Given the description of an element on the screen output the (x, y) to click on. 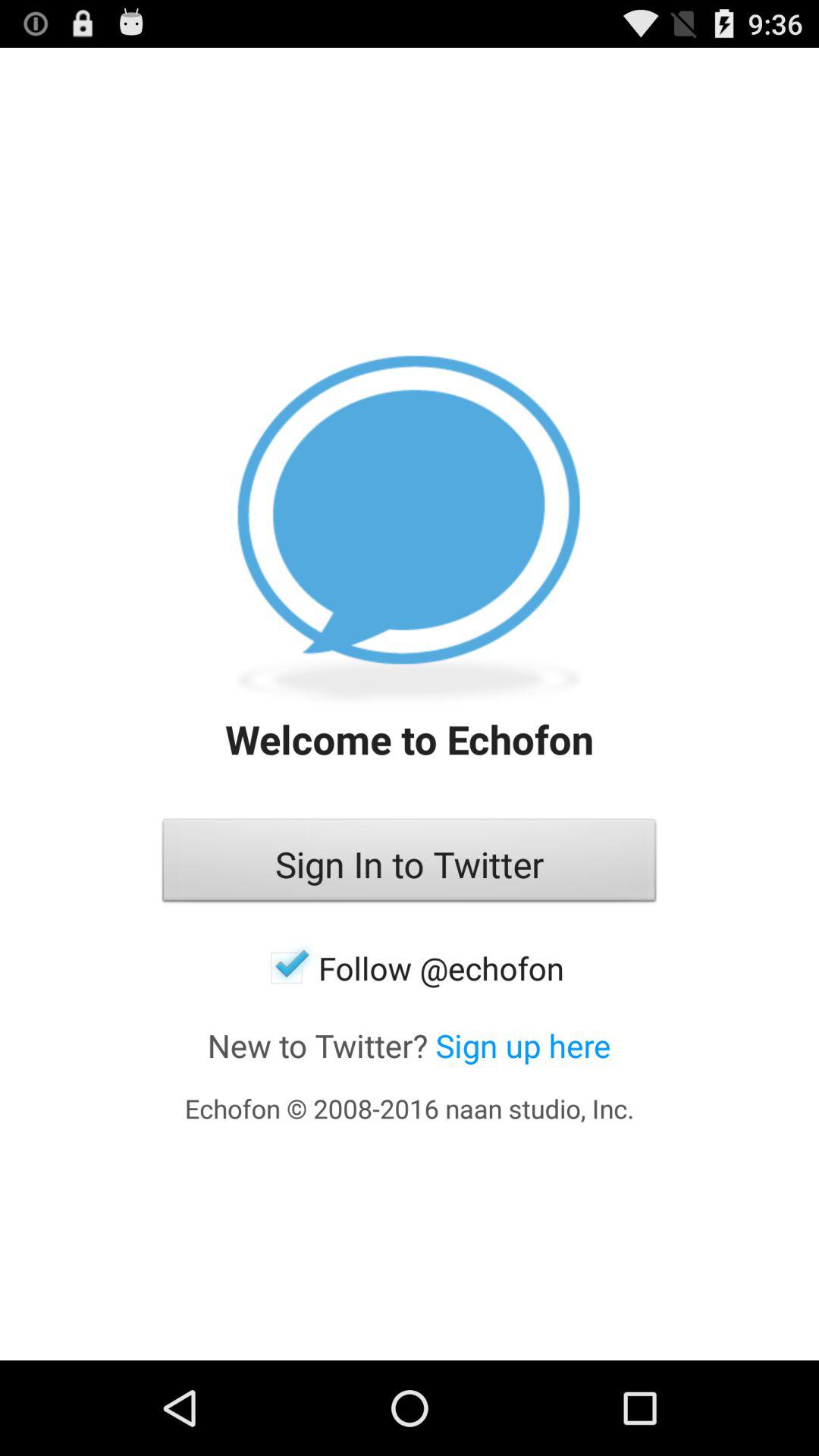
open the app above the new to twitter item (409, 967)
